Given the description of an element on the screen output the (x, y) to click on. 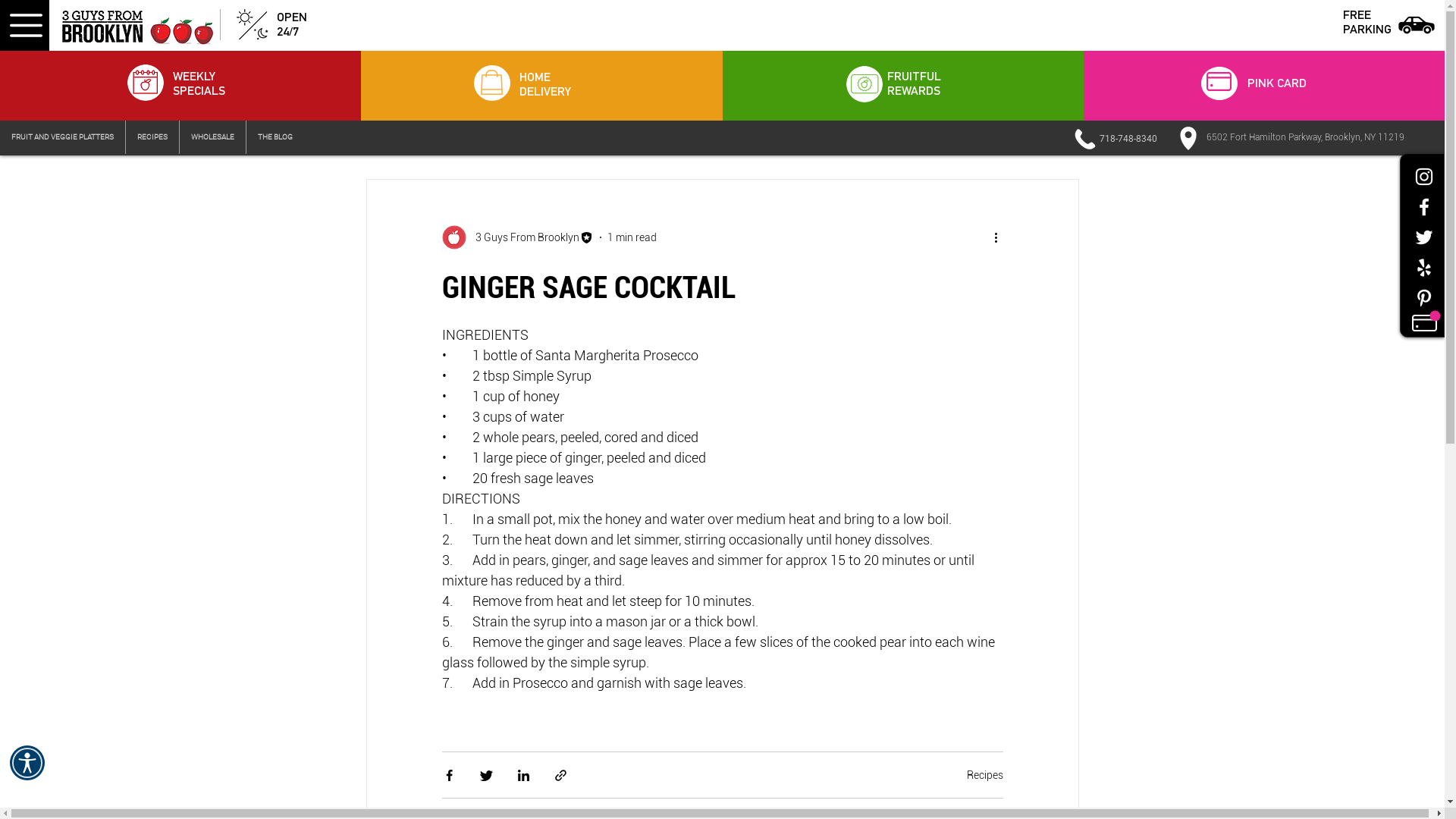
THE BLOG Element type: text (274, 136)
FRUITFUL REWARDS Element type: text (914, 83)
6502 Fort Hamilton Parkway, Brooklyn, NY 11219 Element type: text (1305, 136)
WEEKLY SPECIALS Element type: text (198, 83)
3 Guys From Brooklyn Element type: text (517, 237)
WHOLESALE Element type: text (211, 136)
PINK CARD Element type: text (1276, 82)
FRUIT AND VEGGIE PLATTERS Element type: text (62, 136)
HOME DELIVERY Element type: text (545, 83)
Recipes Element type: text (984, 774)
RECIPES Element type: text (151, 136)
